Given the description of an element on the screen output the (x, y) to click on. 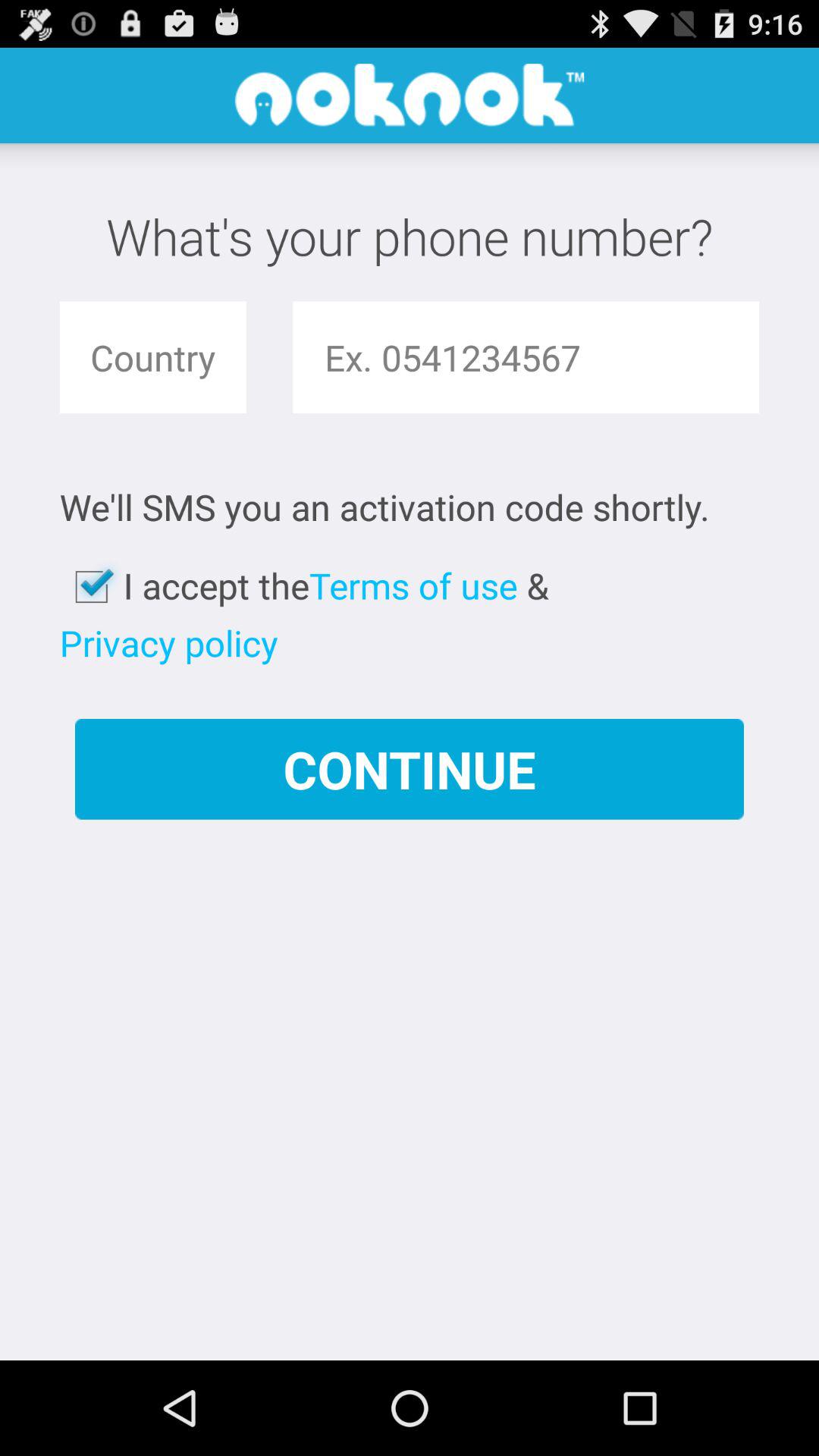
scroll until continue app (409, 768)
